Given the description of an element on the screen output the (x, y) to click on. 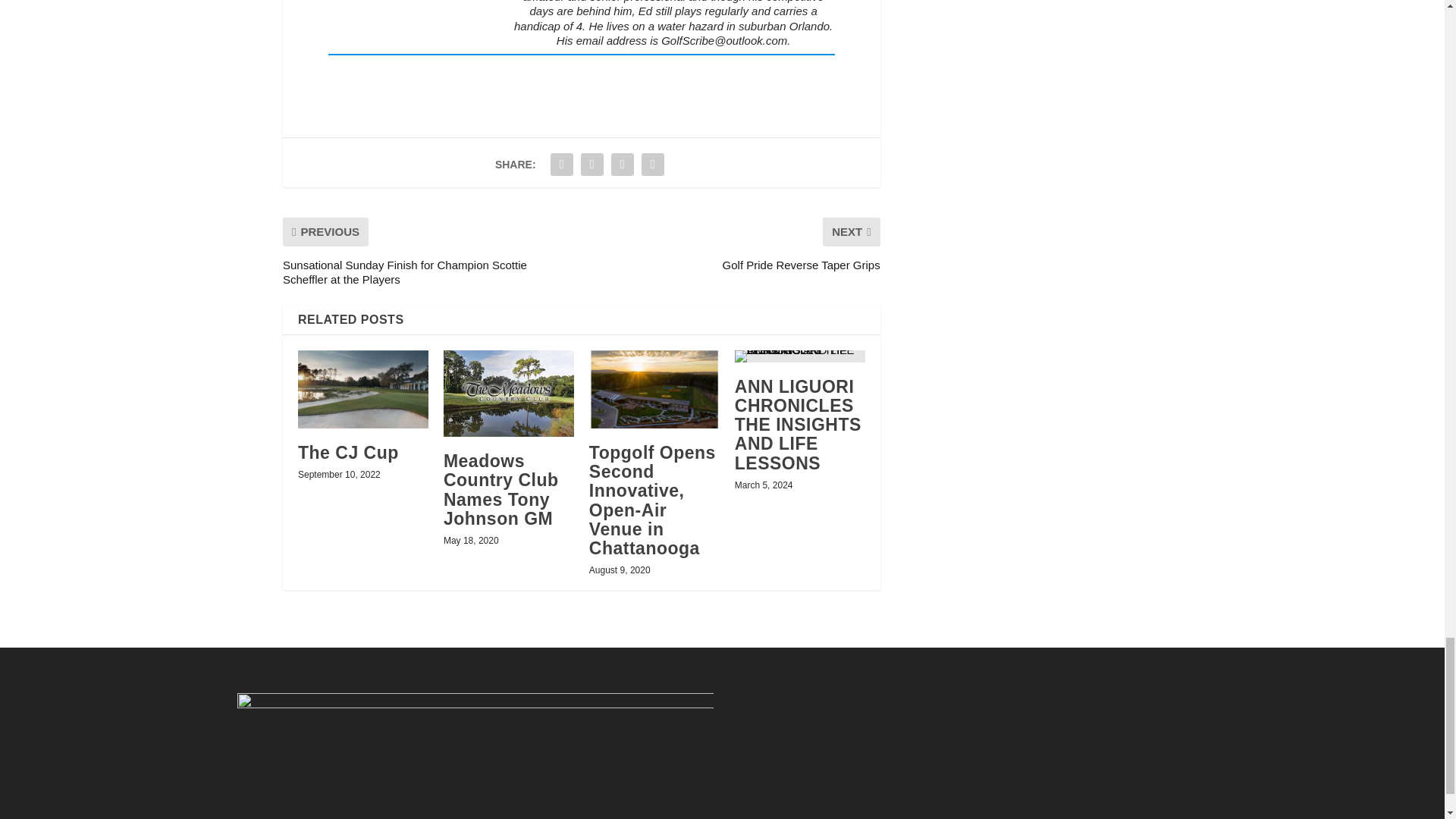
Meadows Country Club Names Tony Johnson GM (501, 489)
The CJ Cup (363, 389)
Meadows Country Club Names Tony Johnson GM (508, 393)
ANN LIGUORI CHRONICLES THE INSIGHTS AND LIFE LESSONS (799, 356)
The CJ Cup (348, 452)
